Given the description of an element on the screen output the (x, y) to click on. 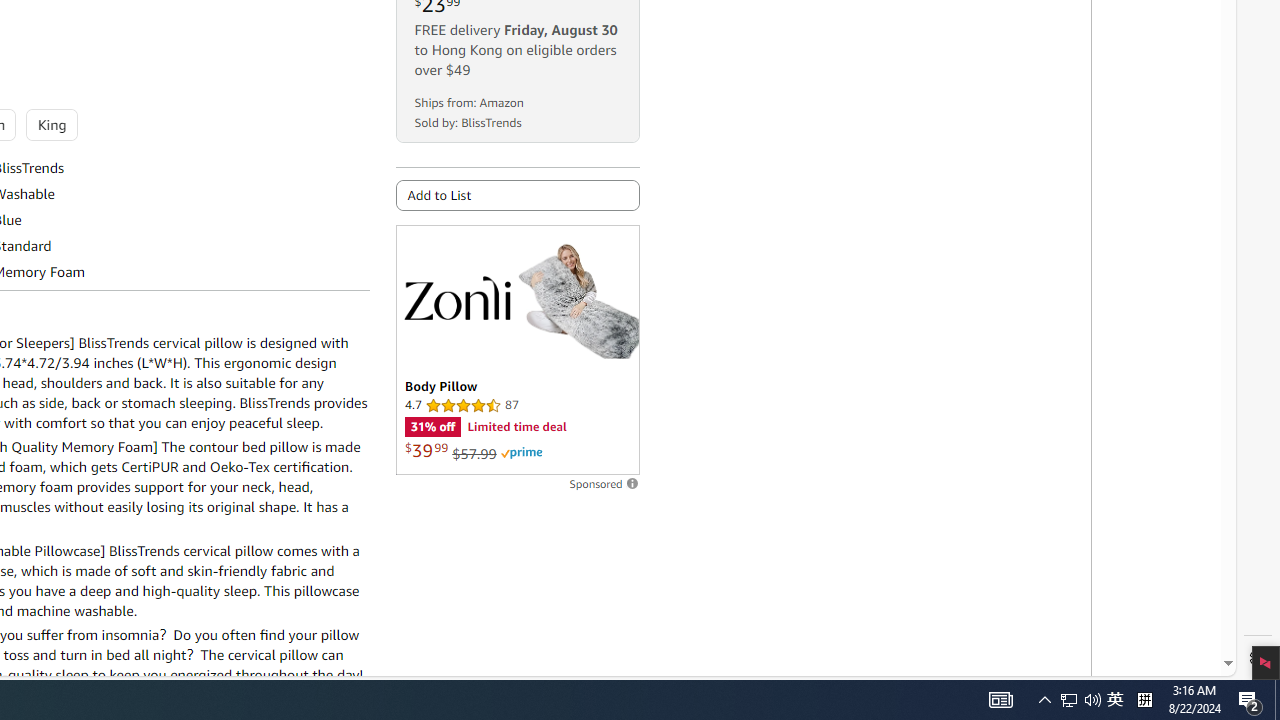
Sponsored ad (516, 349)
Logo (456, 297)
King (50, 123)
Prime (521, 453)
Add to List (516, 195)
